Given the description of an element on the screen output the (x, y) to click on. 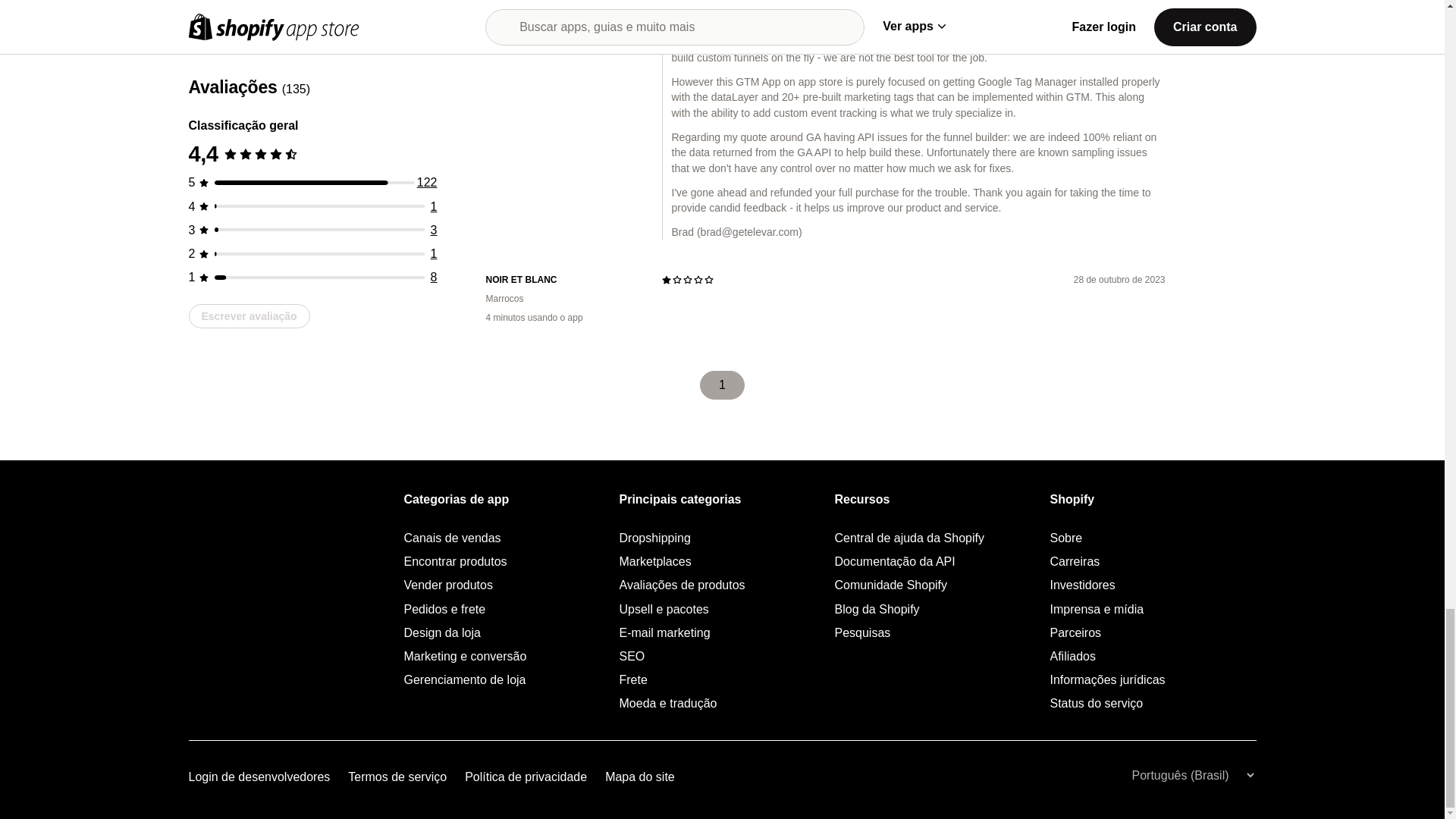
NOIR ET BLANC (560, 279)
